Given the description of an element on the screen output the (x, y) to click on. 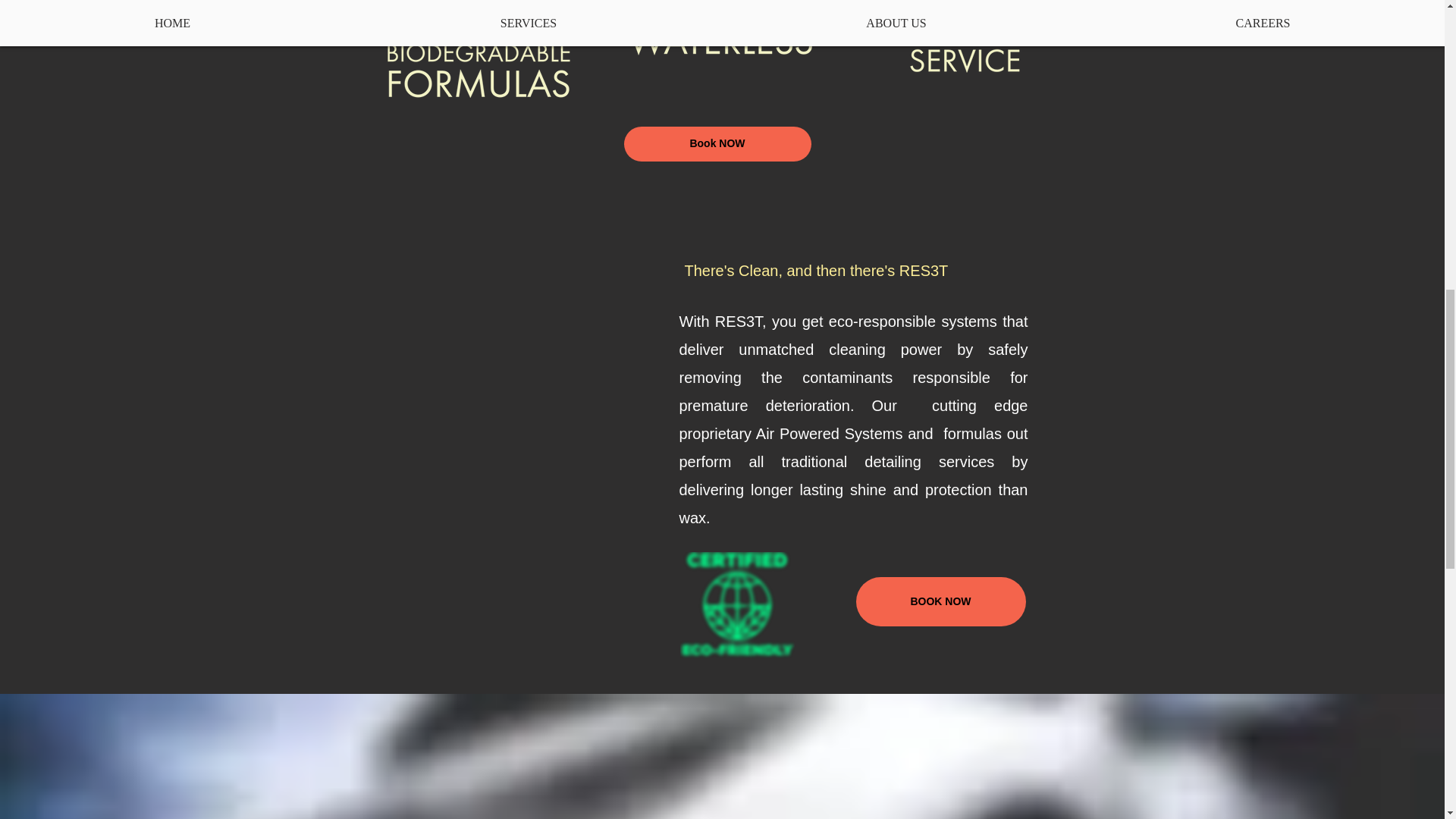
BOOK NOW (940, 601)
Book NOW (716, 143)
